Given the description of an element on the screen output the (x, y) to click on. 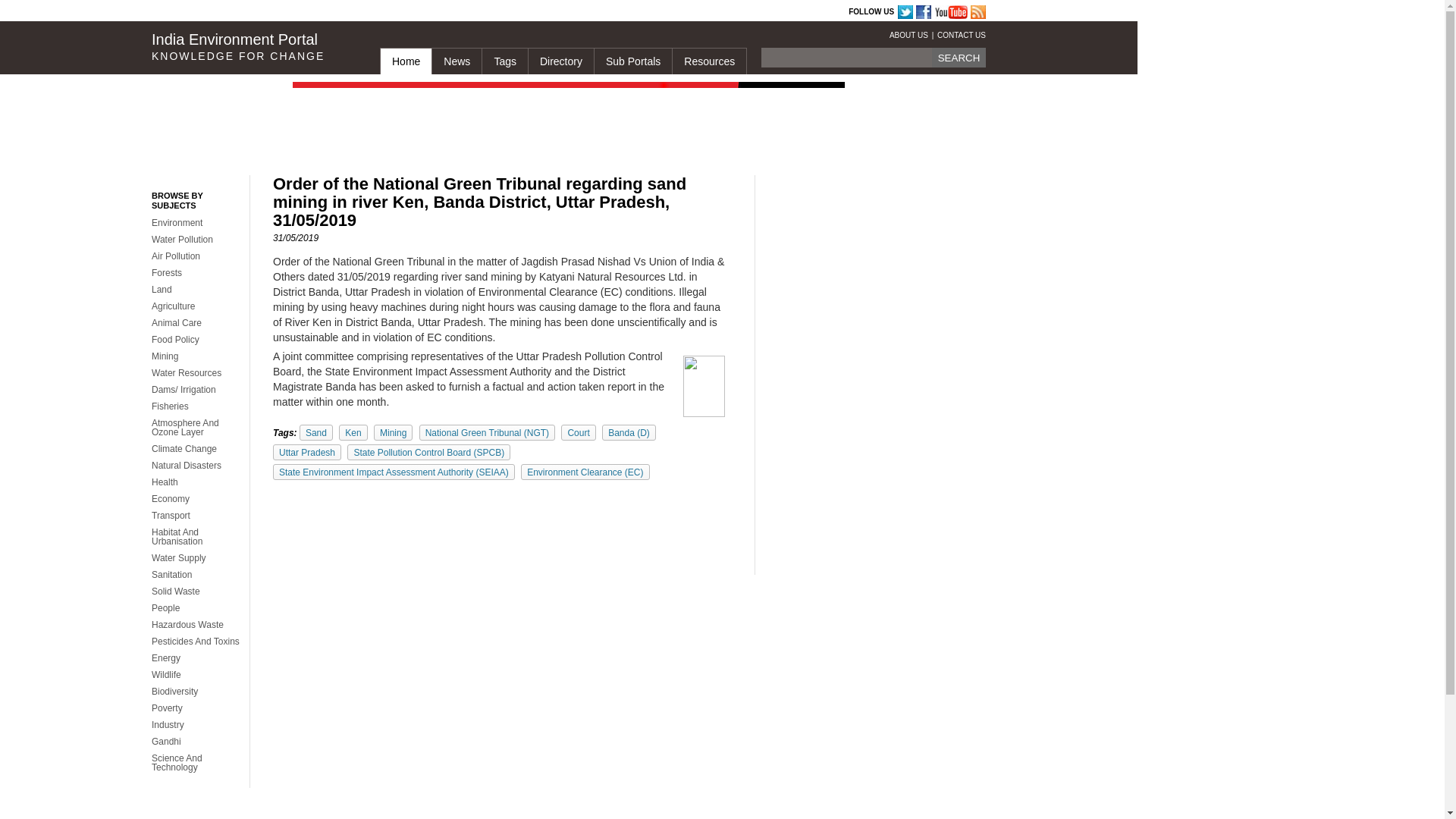
Directory (560, 60)
Down to Earth (311, 11)
Renewable Energy (631, 11)
Resources (708, 60)
CSE (256, 11)
CSE Store (500, 11)
Tags (504, 60)
India Environment Portal (540, 11)
Rain Water Harvesting (418, 11)
India Environment Portal KNOWLEDGE FOR CHANGE (253, 46)
Sub Portals (632, 60)
Gobar Times (368, 11)
News (455, 60)
Home (405, 60)
